Given the description of an element on the screen output the (x, y) to click on. 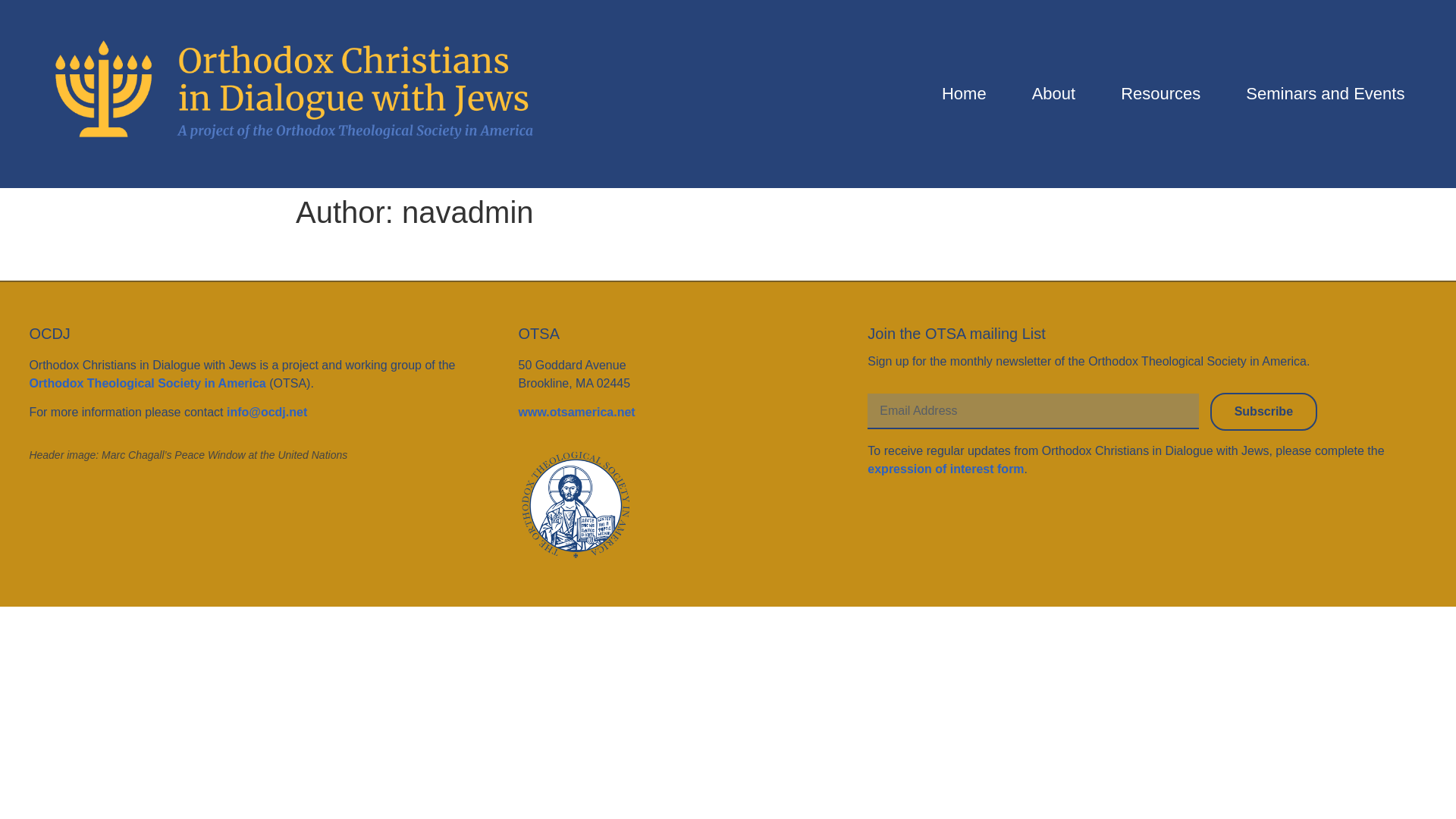
About (1054, 94)
Home (964, 94)
Resources (1160, 94)
Seminars and Events (1325, 94)
Orthodox Theological Society in America (146, 382)
expression of interest form (945, 468)
Subscribe (1263, 411)
www.otsamerica.net (576, 411)
